Given the description of an element on the screen output the (x, y) to click on. 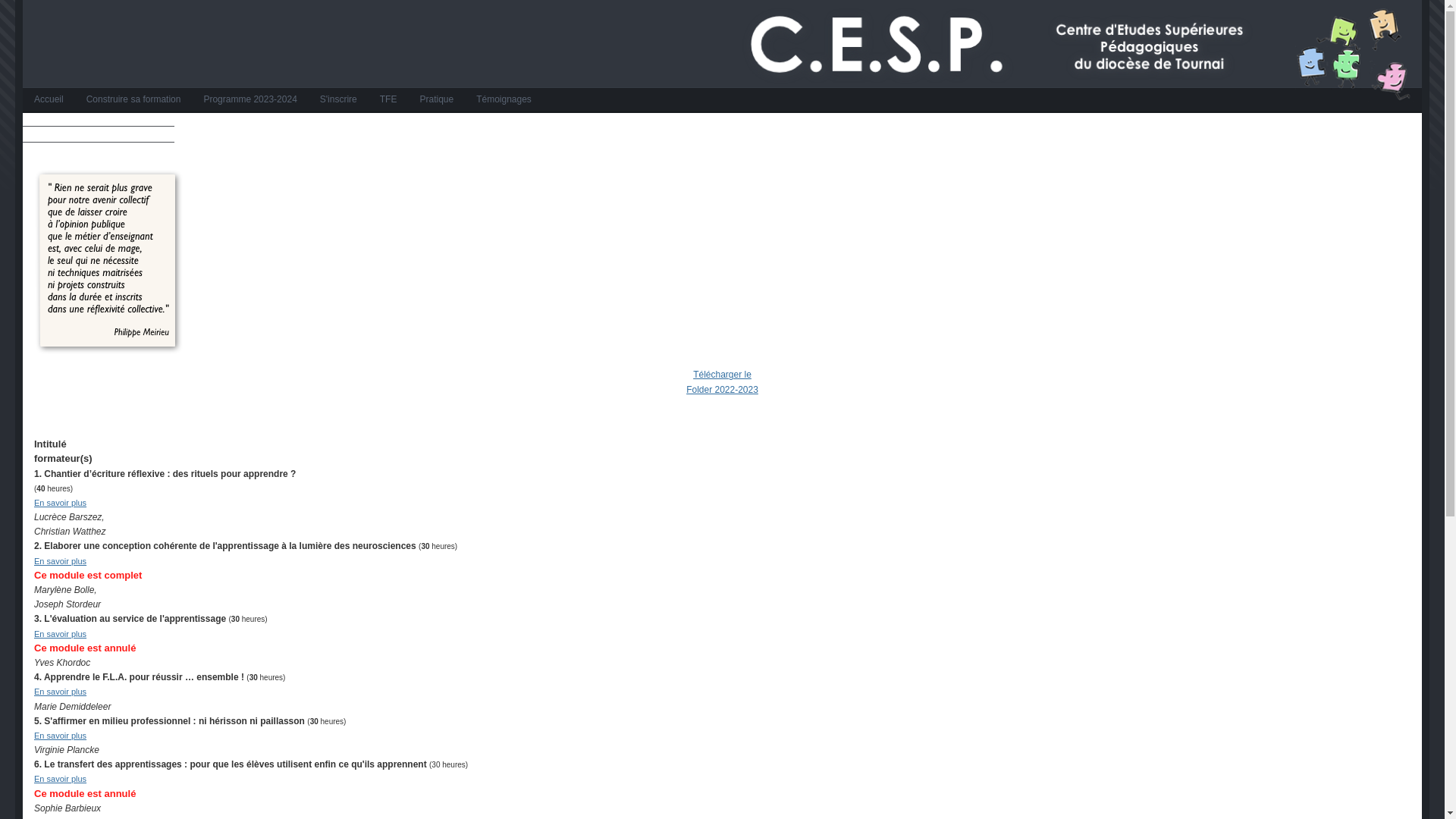
En savoir plus Element type: text (60, 633)
Pratique Element type: text (435, 100)
En savoir plus Element type: text (60, 778)
En savoir plus Element type: text (60, 691)
Construire sa formation Element type: text (133, 100)
S'inscrire Element type: text (338, 100)
Programme 2023-2024 Element type: text (249, 100)
TFE Element type: text (388, 100)
En savoir plus Element type: text (60, 502)
En savoir plus Element type: text (60, 560)
En savoir plus Element type: text (60, 735)
Accueil Element type: text (48, 100)
